Given the description of an element on the screen output the (x, y) to click on. 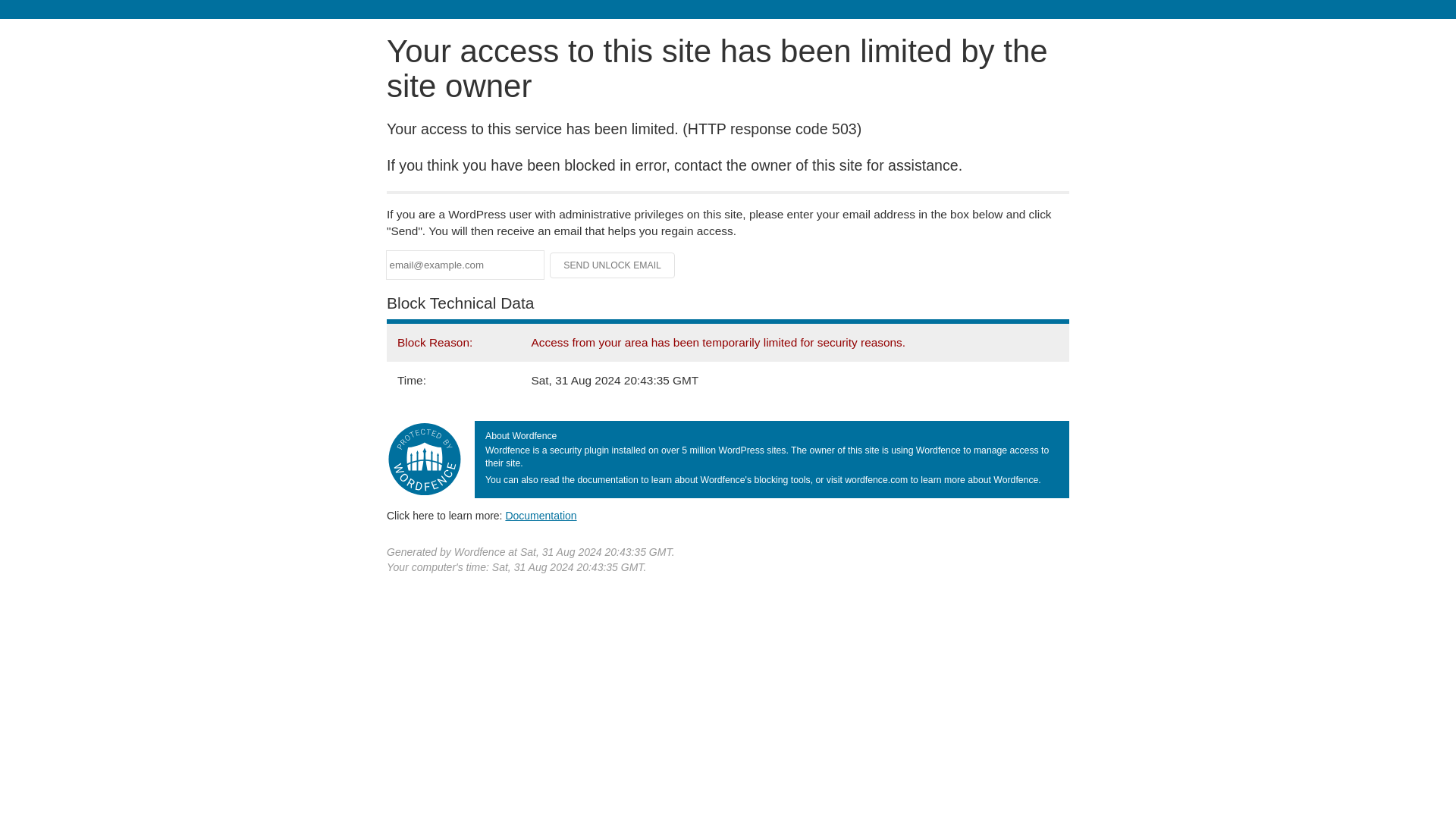
Send Unlock Email (612, 265)
Send Unlock Email (612, 265)
Documentation (540, 515)
